Given the description of an element on the screen output the (x, y) to click on. 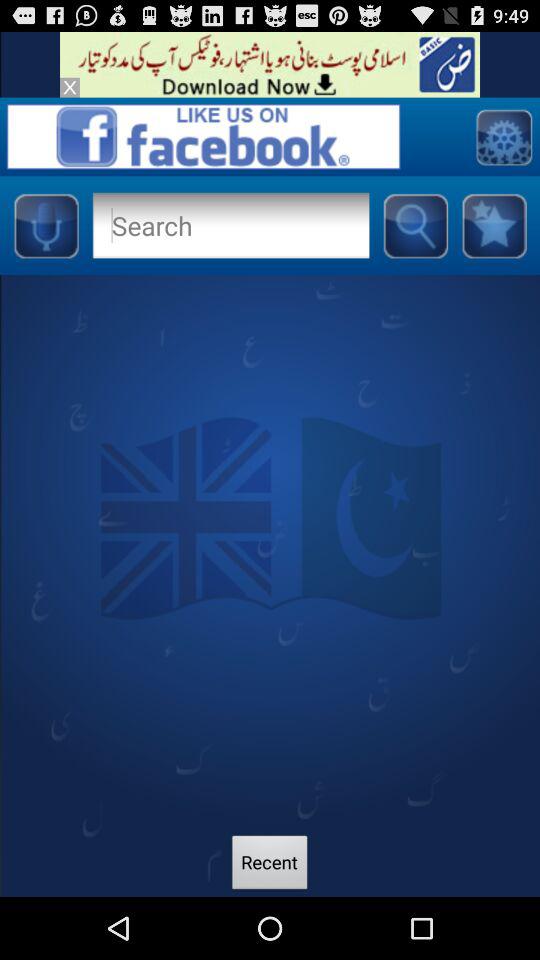
close advertisements (69, 87)
